Given the description of an element on the screen output the (x, y) to click on. 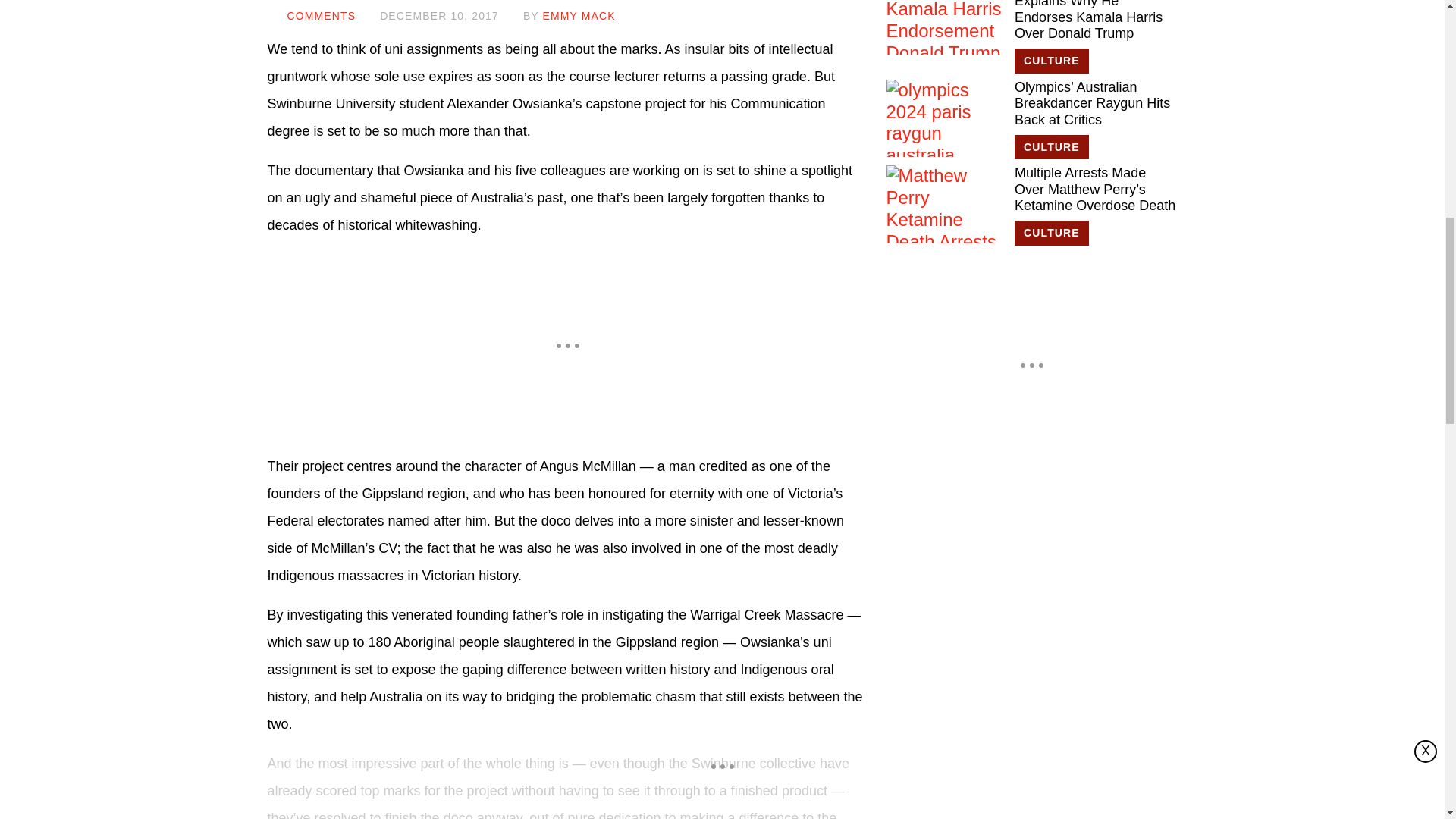
EMMY MACK (579, 15)
CULTURE (1051, 232)
CULTURE (1051, 147)
CULTURE (1051, 60)
